Given the description of an element on the screen output the (x, y) to click on. 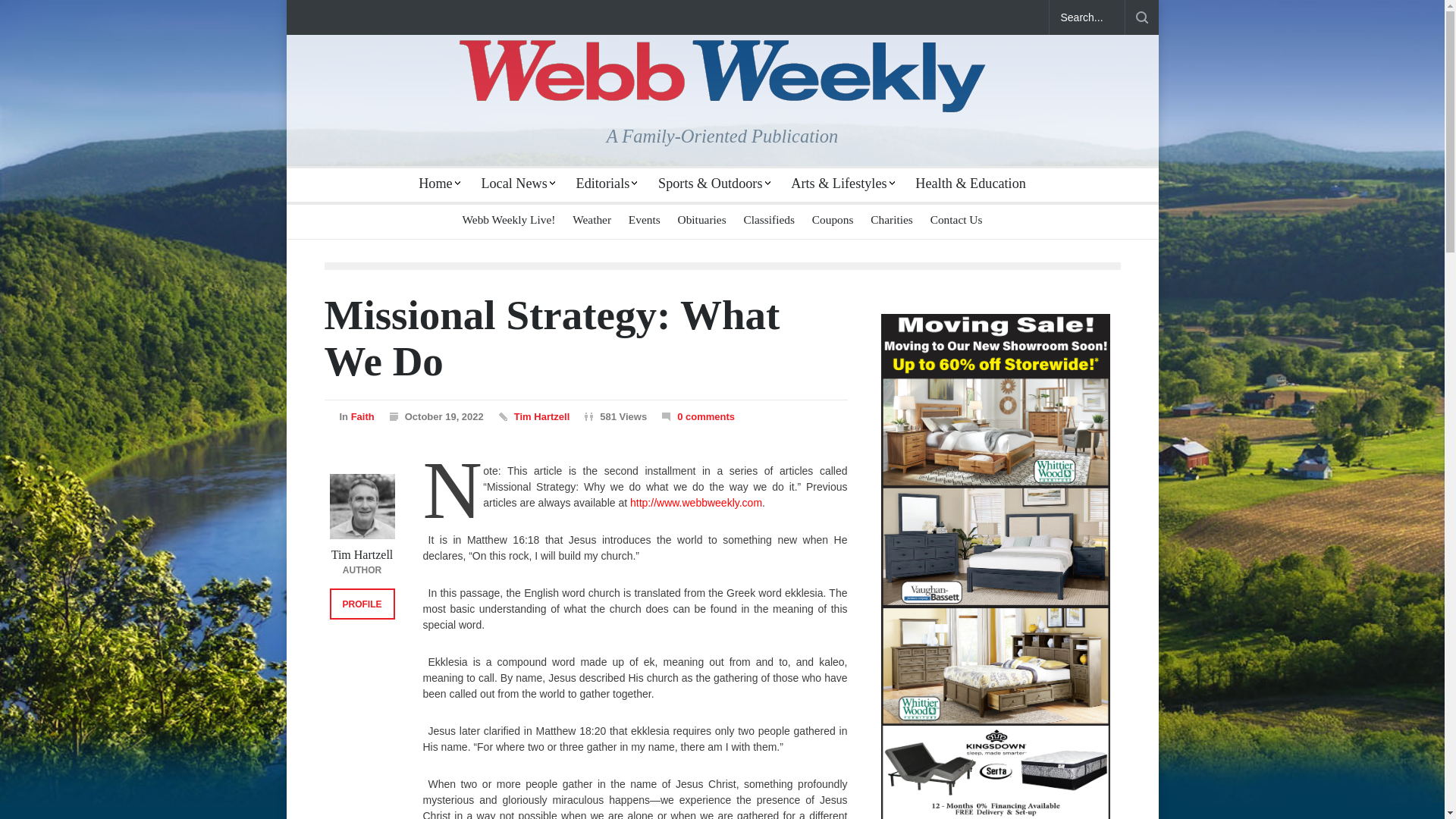
0 comments (698, 416)
View all posts filed under Faith (362, 416)
Missional Strategy: What We Do (552, 337)
Weather (591, 219)
Tim Hartzell (361, 506)
Editorials (609, 183)
Tim Hartzell (541, 416)
Search... (1087, 17)
Tim Hartzell (362, 554)
Events (644, 219)
